Given the description of an element on the screen output the (x, y) to click on. 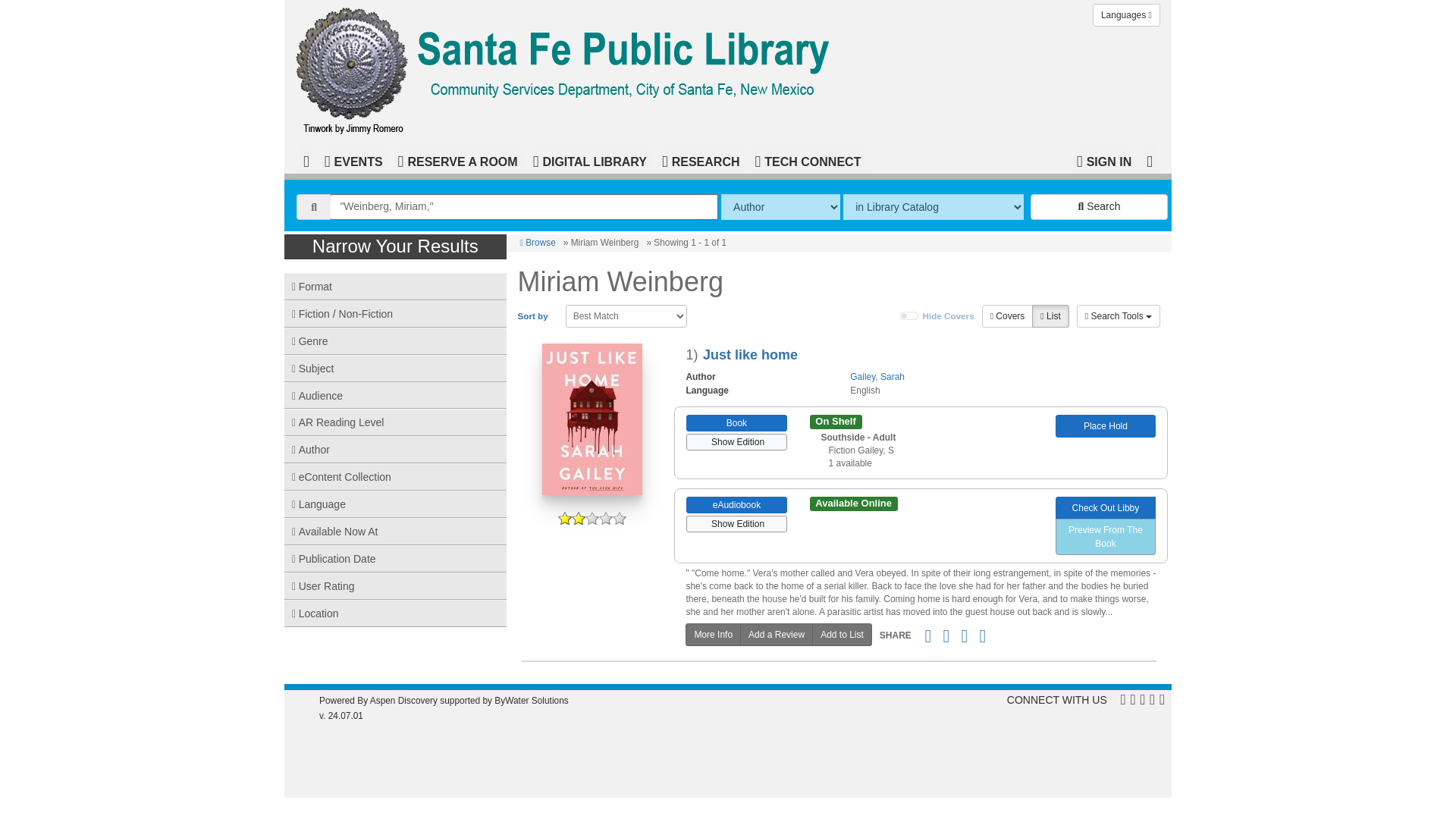
EVENTS (353, 159)
RESEARCH (701, 159)
DIGITAL LIBRARY (589, 159)
Login (1104, 159)
on (908, 316)
RESERVE A ROOM (457, 159)
SIGN IN (1104, 159)
TECH CONNECT (807, 159)
"Weinberg, Miriam," (523, 207)
Languages  (1126, 15)
